Given the description of an element on the screen output the (x, y) to click on. 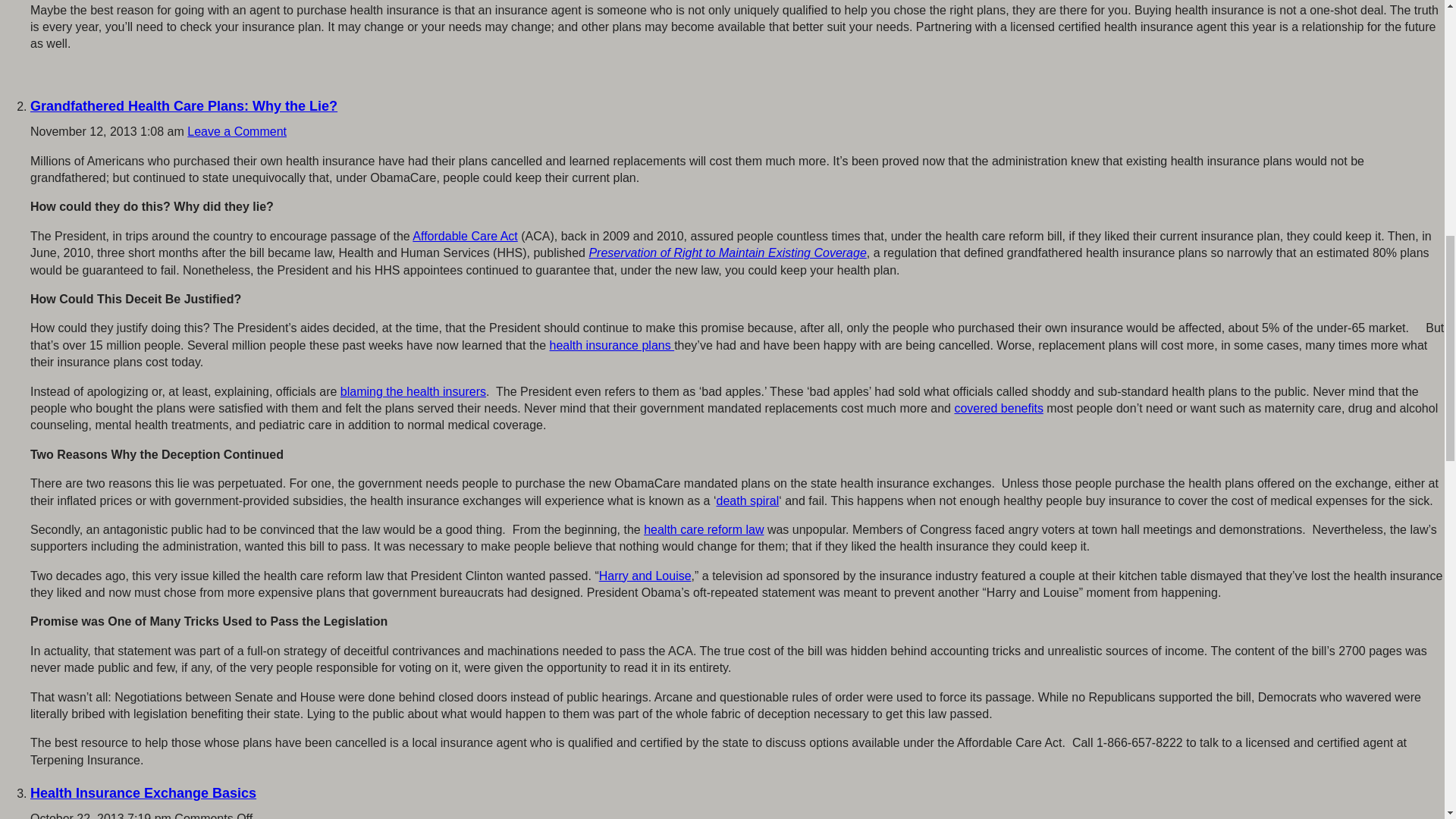
health care reform law (702, 529)
dealth spiral (747, 500)
covered benefits (997, 408)
covered benefits (997, 408)
Permalink to Grandfathered Health Care Plans: Why the Lie? (183, 105)
Preservation of Right to Maintain Existing Coverage (727, 252)
Leave a Comment (236, 131)
Affordable Care Act (464, 236)
Health Insurance Exchange Basics (143, 792)
death spiral (747, 500)
health insurance plans (612, 345)
Harry and Louise (644, 575)
Preservation of Right to Maintain Existing Coverage (727, 252)
health care reform law (702, 529)
Grandfathered Health Care Plans: Why the Lie? (183, 105)
